Given the description of an element on the screen output the (x, y) to click on. 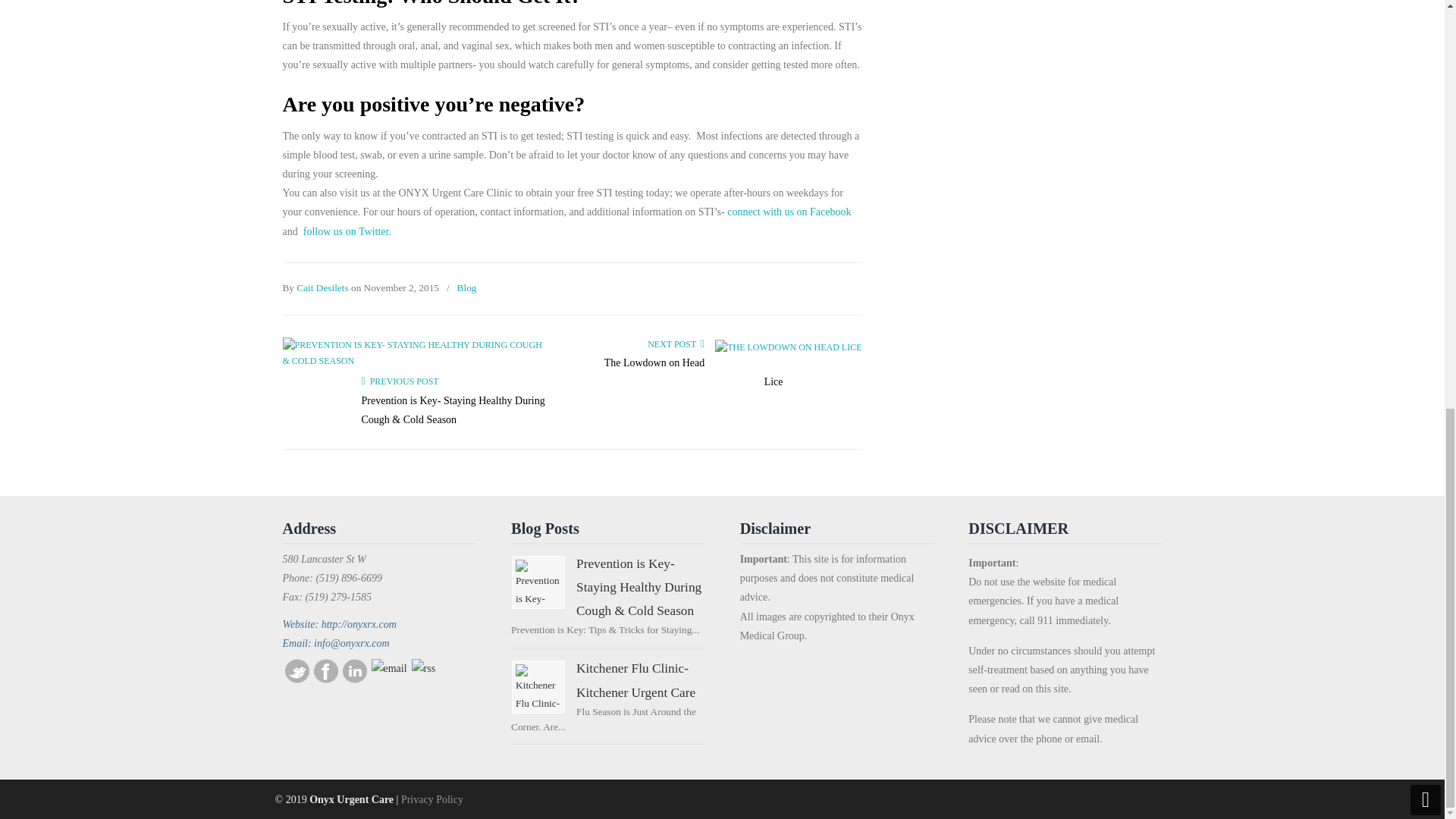
Go to next post (675, 344)
Posts by Cait Desilets (322, 288)
The Lowdown on Head Lice (693, 372)
The Lowdown on Head Lice (787, 347)
Twitter (296, 679)
Go to previous post (399, 380)
 PREVIOUS POST (399, 380)
Blog (467, 288)
The Lowdown on Head Lice (693, 372)
Cait Desilets (322, 288)
NEXT POST   (675, 344)
connect with us on Facebook (788, 211)
follow us on Twitter. (346, 231)
Facebook (325, 679)
